Given the description of an element on the screen output the (x, y) to click on. 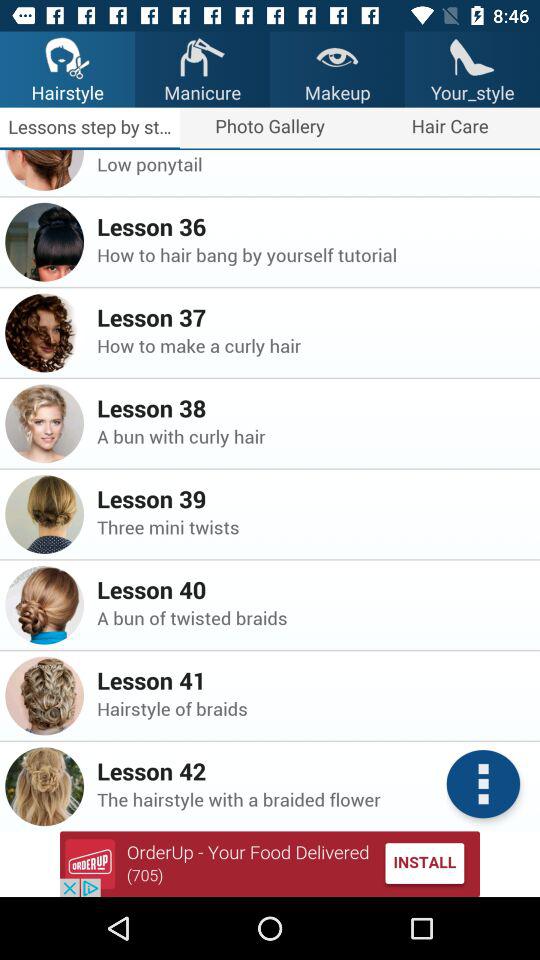
launch three mini twists (311, 526)
